Given the description of an element on the screen output the (x, y) to click on. 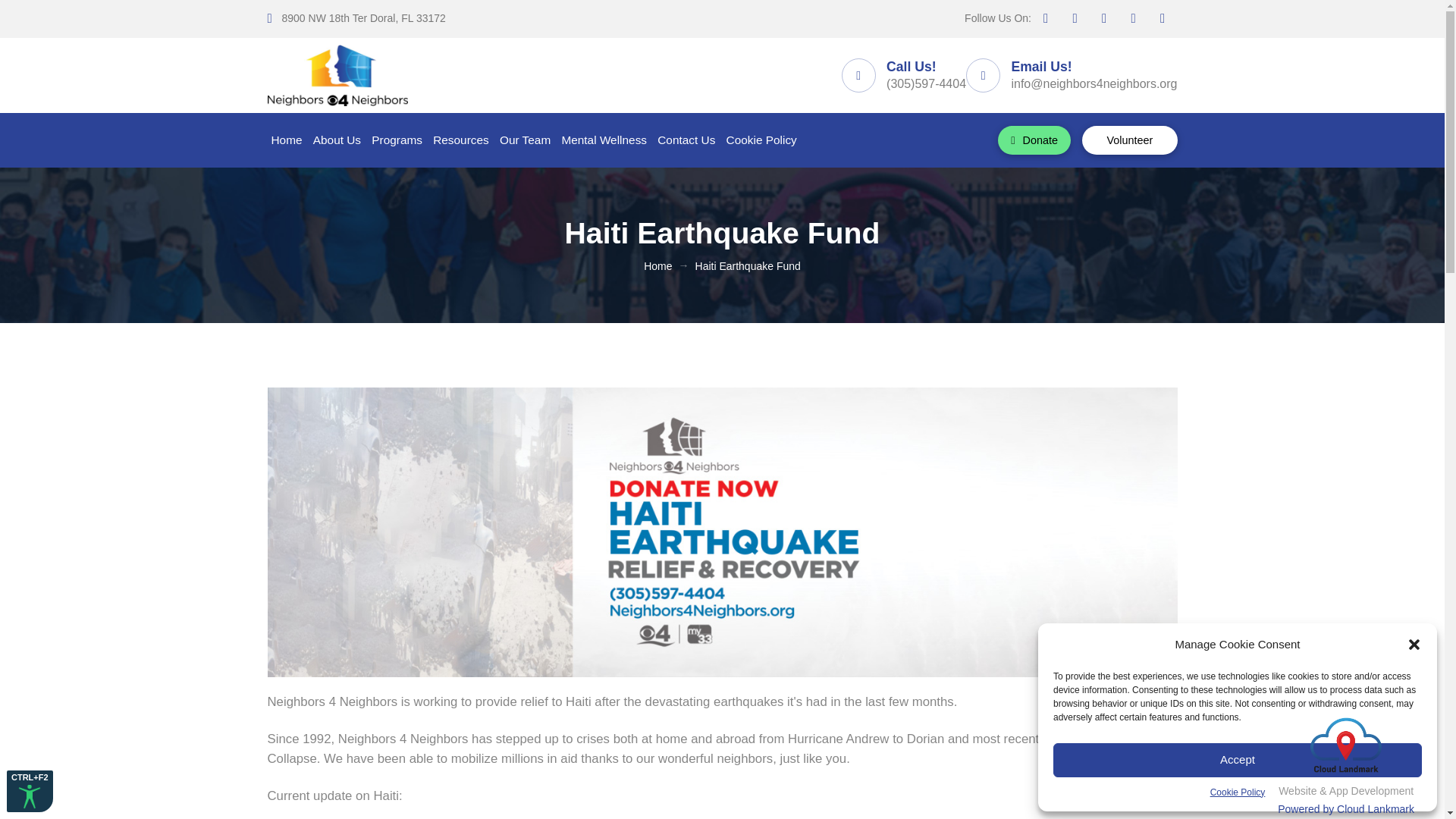
Accept (1237, 759)
Accessibility Menu (30, 791)
Powered by Cloud Lankmark (1345, 808)
Cookie Policy (1237, 792)
